Given the description of an element on the screen output the (x, y) to click on. 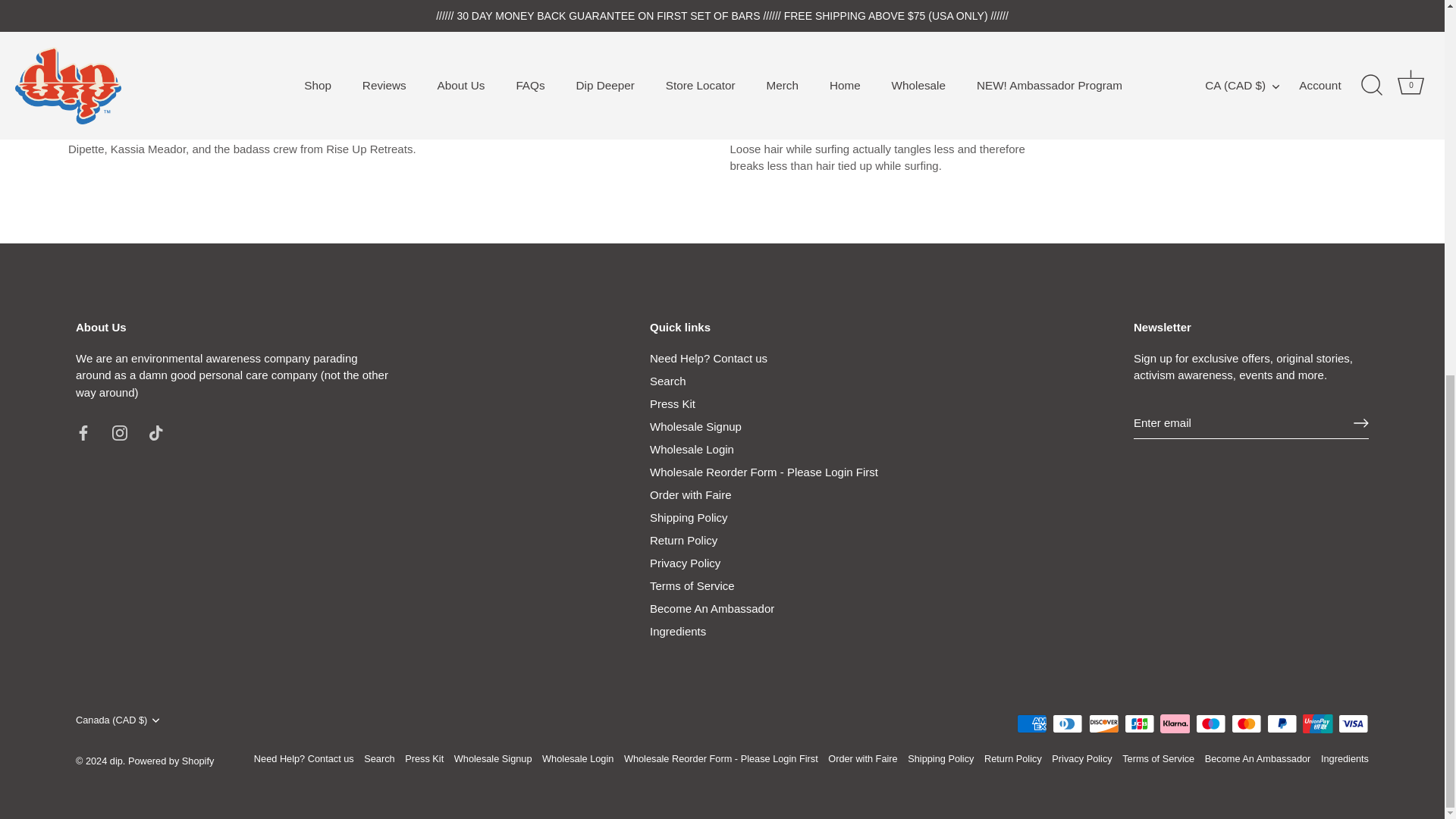
Diners Club (1067, 723)
RIGHT ARROW LONG (1361, 422)
American Express (1031, 723)
Instagram (120, 432)
Maestro (1210, 723)
Mastercard (1245, 723)
Union Pay (1317, 723)
About Us (231, 375)
Visa (1353, 723)
JCB (1139, 723)
Klarna (1174, 723)
Discover (1104, 723)
PayPal (1281, 723)
